Given the description of an element on the screen output the (x, y) to click on. 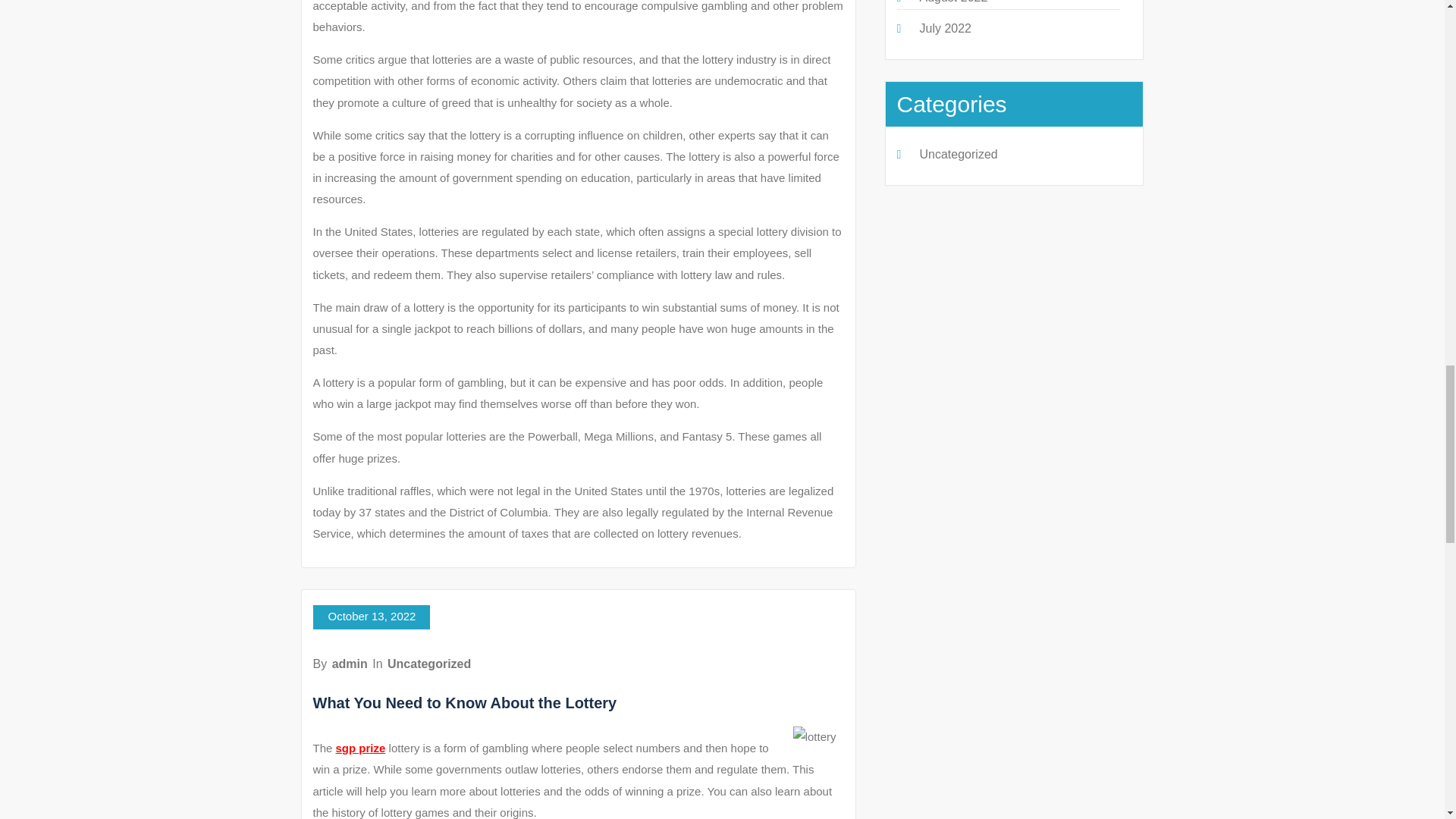
admin (349, 663)
October 13, 2022 (371, 617)
sgp prize (360, 748)
Uncategorized (428, 663)
What You Need to Know About the Lottery (464, 702)
